Given the description of an element on the screen output the (x, y) to click on. 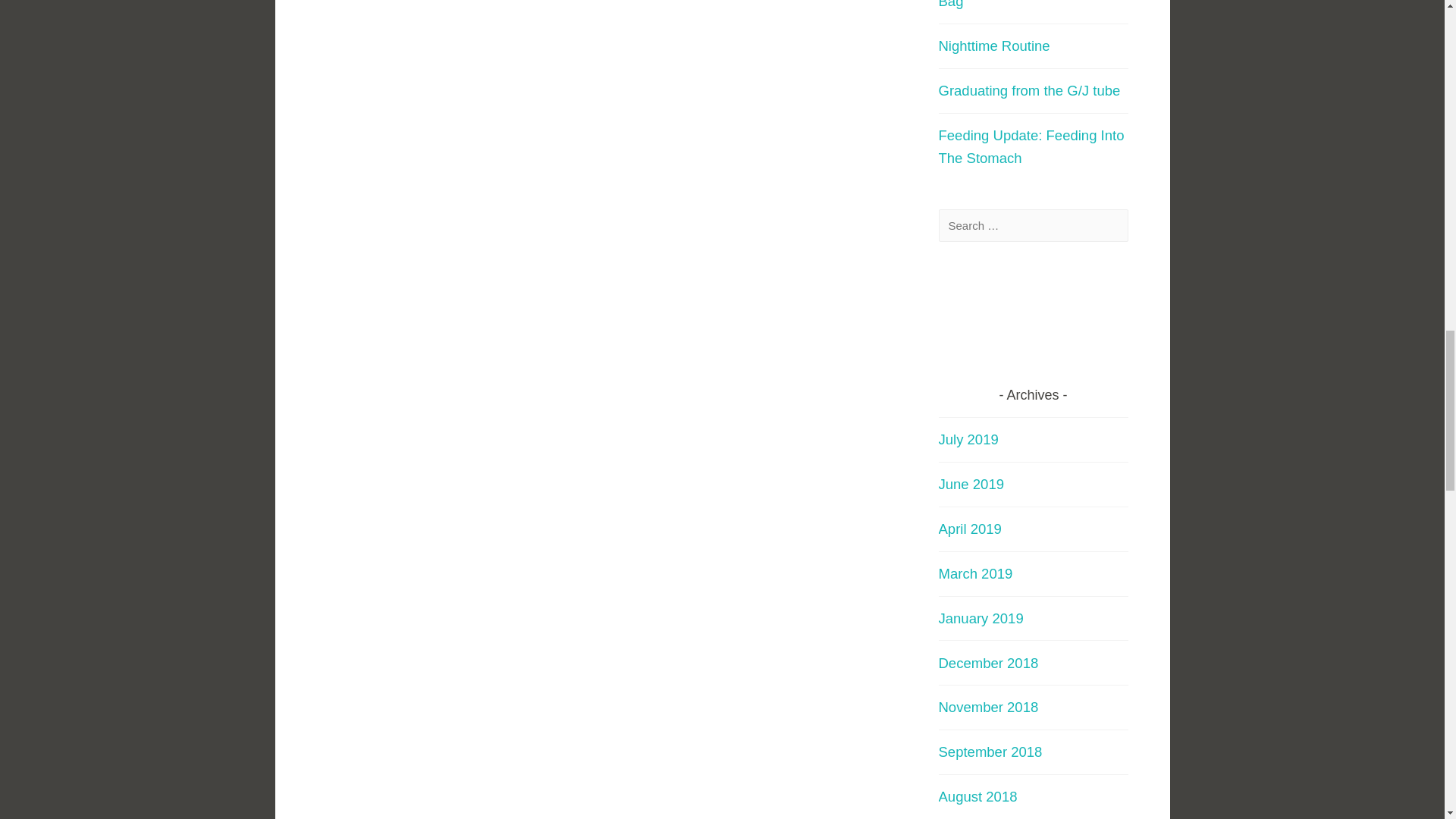
December 2018 (989, 662)
January 2019 (981, 618)
July 2019 (968, 439)
November 2018 (989, 706)
April 2019 (970, 528)
June 2019 (971, 483)
How to Prime Tube Feeding Bag (1026, 4)
Feeding Update: Feeding Into The Stomach (1031, 146)
Nighttime Routine (994, 45)
September 2018 (990, 751)
